Given the description of an element on the screen output the (x, y) to click on. 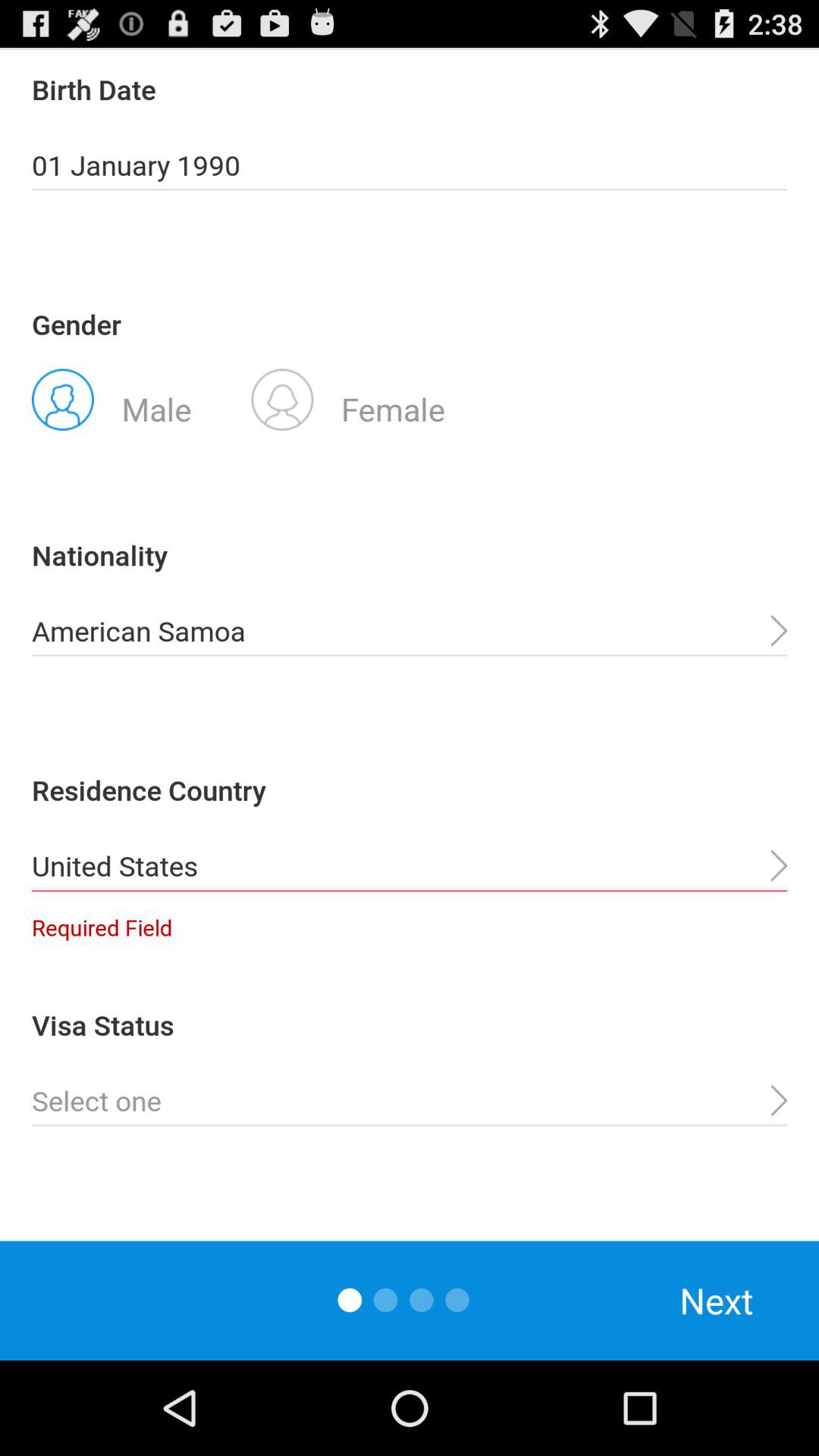
swipe to the united states item (409, 866)
